Given the description of an element on the screen output the (x, y) to click on. 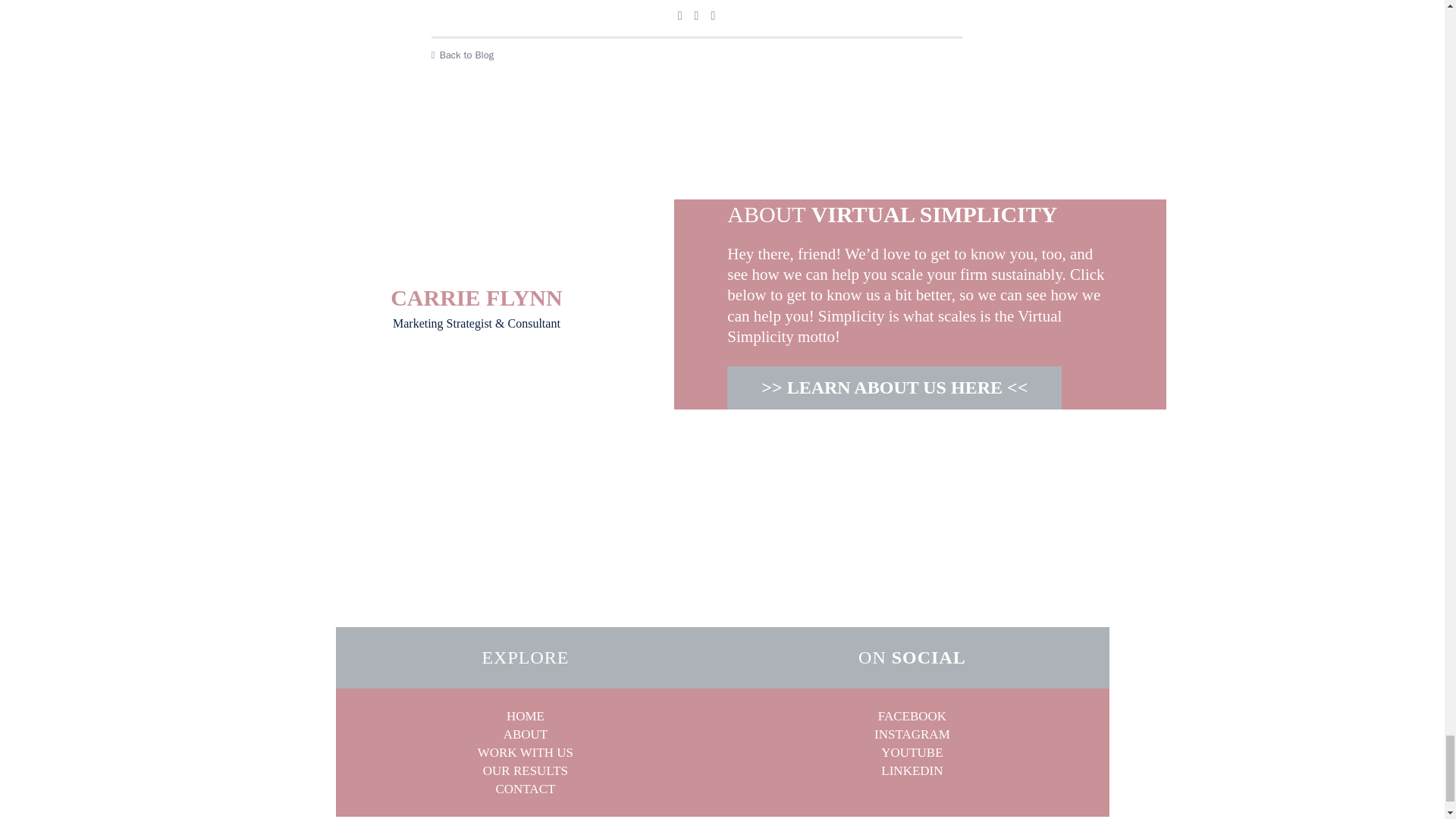
FACEBOOK (911, 716)
HOME (525, 716)
ABOUT (525, 734)
LINKEDIN (911, 770)
OUR RESULTS (525, 770)
YOUTUBE (911, 752)
WORK WITH US (525, 752)
CONTACT (524, 788)
Back to Blog (695, 55)
INSTAGRAM (912, 734)
